Given the description of an element on the screen output the (x, y) to click on. 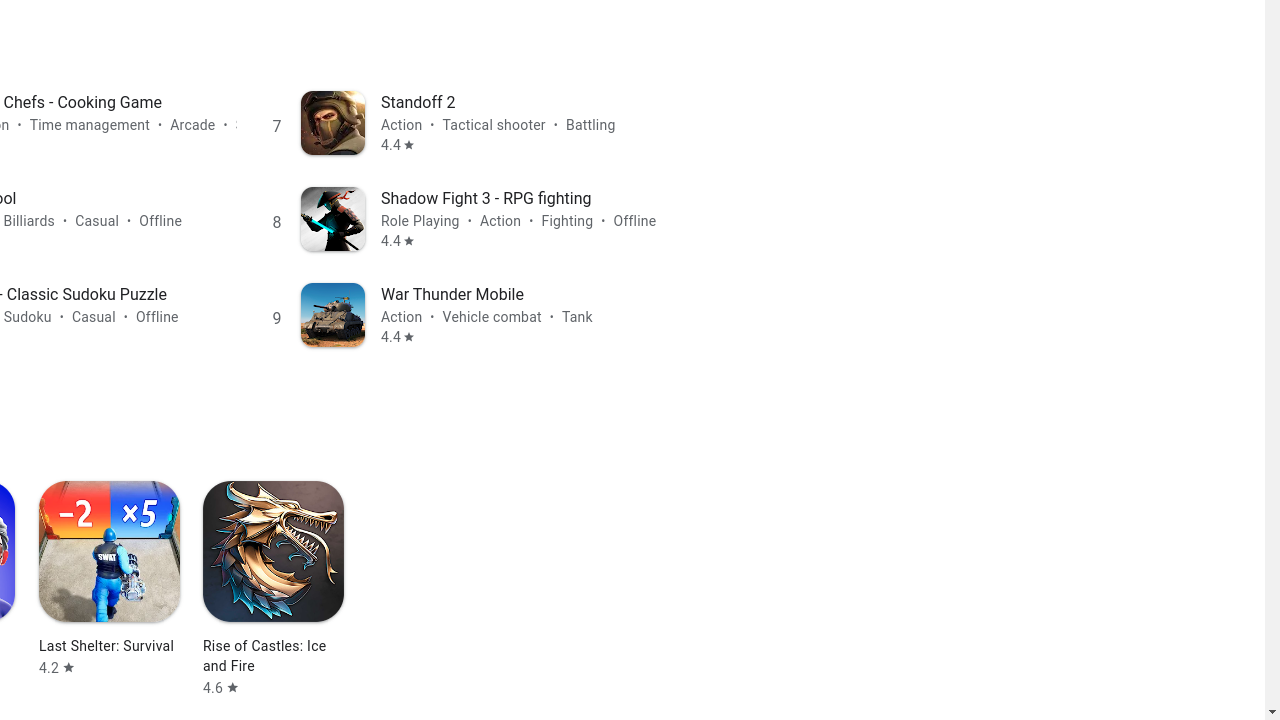
Rank 8 Shadow Fight 3 - RPG fighting Role Playing • Action • Fighting • Offline Rated 4.4 stars out of five stars Element type: link (468, 218)
Rank 7 Standoff 2 Action • Tactical shooter • Battling Rated 4.4 stars out of five stars Element type: link (468, 122)
Last Shelter: Survival Rated 4.2 stars out of five stars Element type: link (109, 579)
Rank 9 War Thunder Mobile Action • Vehicle combat • Tank Rated 4.4 stars out of five stars Element type: link (468, 314)
Rise of Castles: Ice and Fire Rated 4.6 stars out of five stars Element type: link (273, 589)
